Given the description of an element on the screen output the (x, y) to click on. 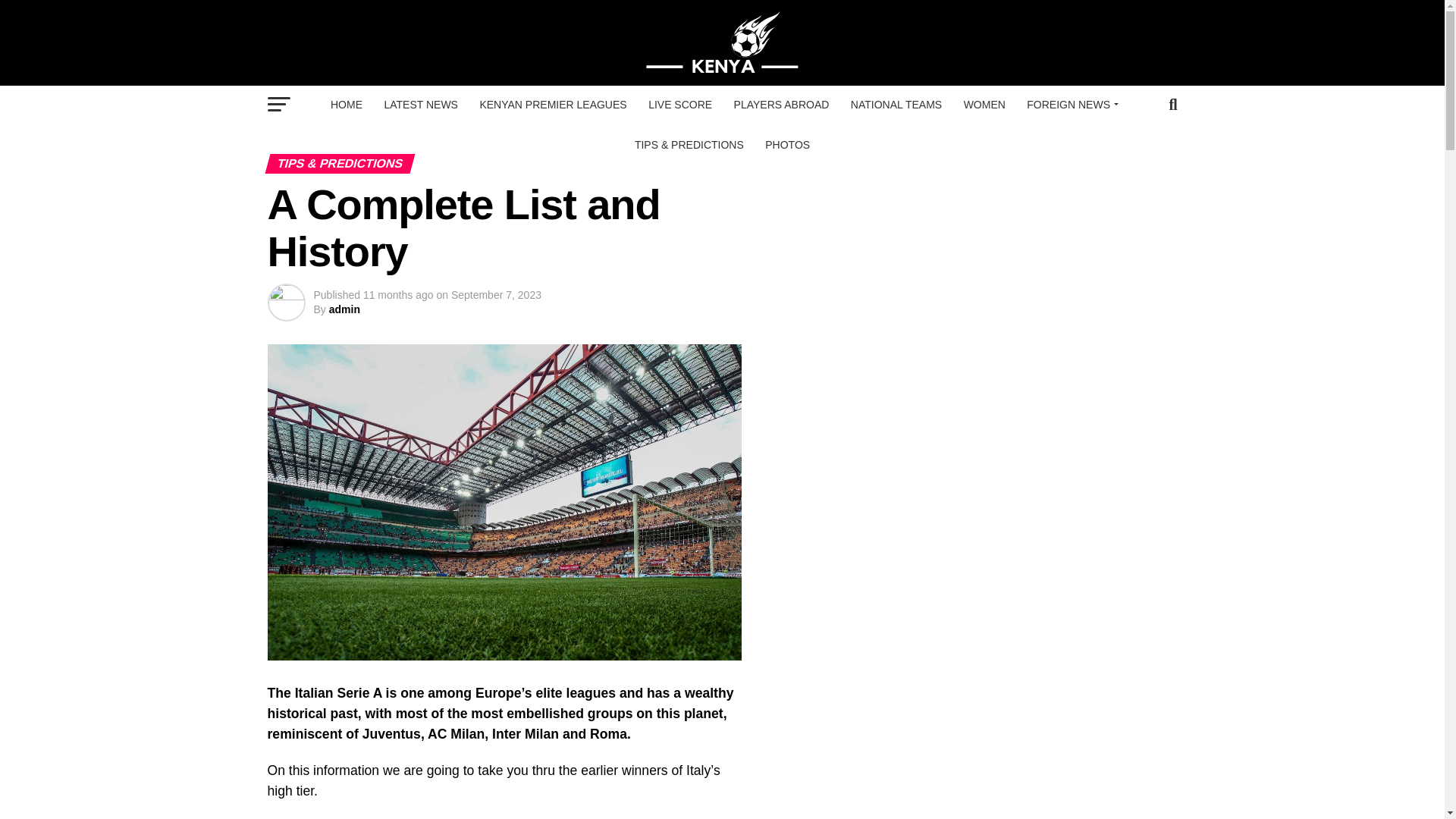
WOMEN (984, 104)
LATEST NEWS (420, 104)
PLAYERS ABROAD (781, 104)
FOREIGN NEWS (1069, 104)
NATIONAL TEAMS (895, 104)
LIVE SCORE (679, 104)
KENYAN PREMIER LEAGUES (552, 104)
HOME (346, 104)
